Given the description of an element on the screen output the (x, y) to click on. 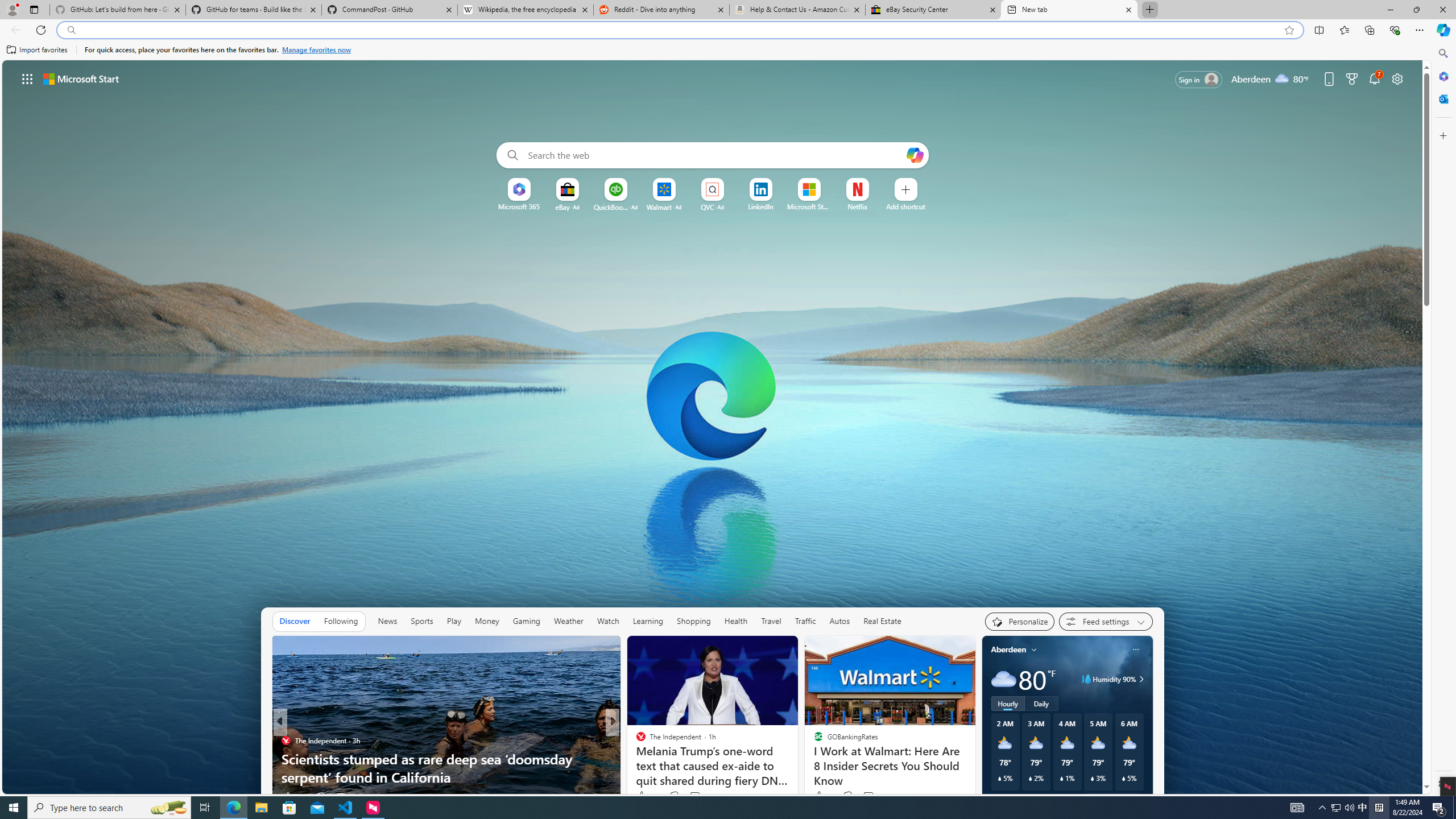
Shopping (693, 621)
View comments 58 Comment (696, 796)
View comments 27 Comment (340, 797)
Use AI To Find Relevant Comps (796, 777)
Cloudy (1003, 678)
235 Like (293, 796)
Wikipedia, the free encyclopedia (525, 9)
